Given the description of an element on the screen output the (x, y) to click on. 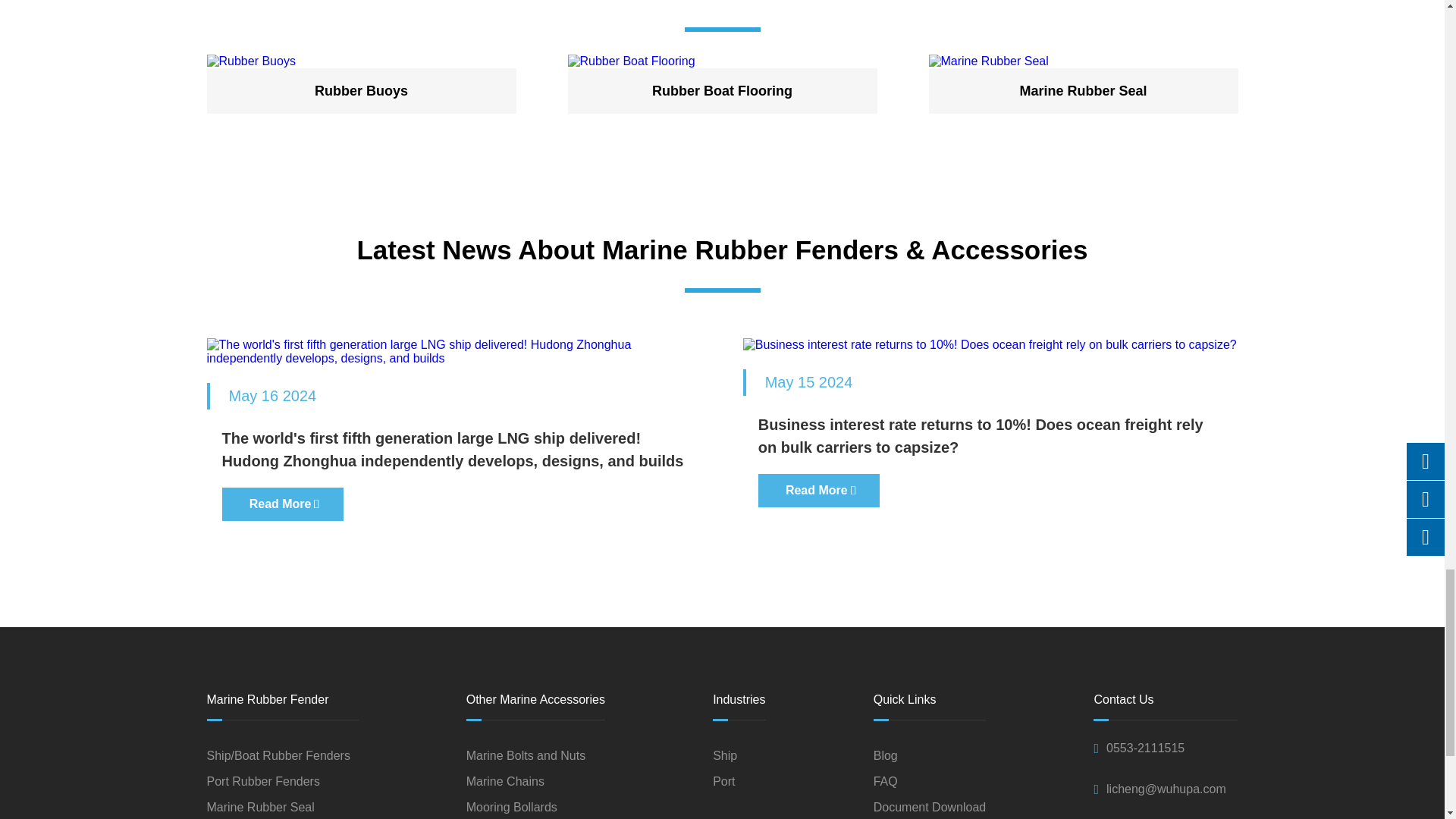
Marine Rubber Seal (1082, 60)
Rubber Boat Flooring (721, 60)
Rubber Buoys (360, 60)
